Given the description of an element on the screen output the (x, y) to click on. 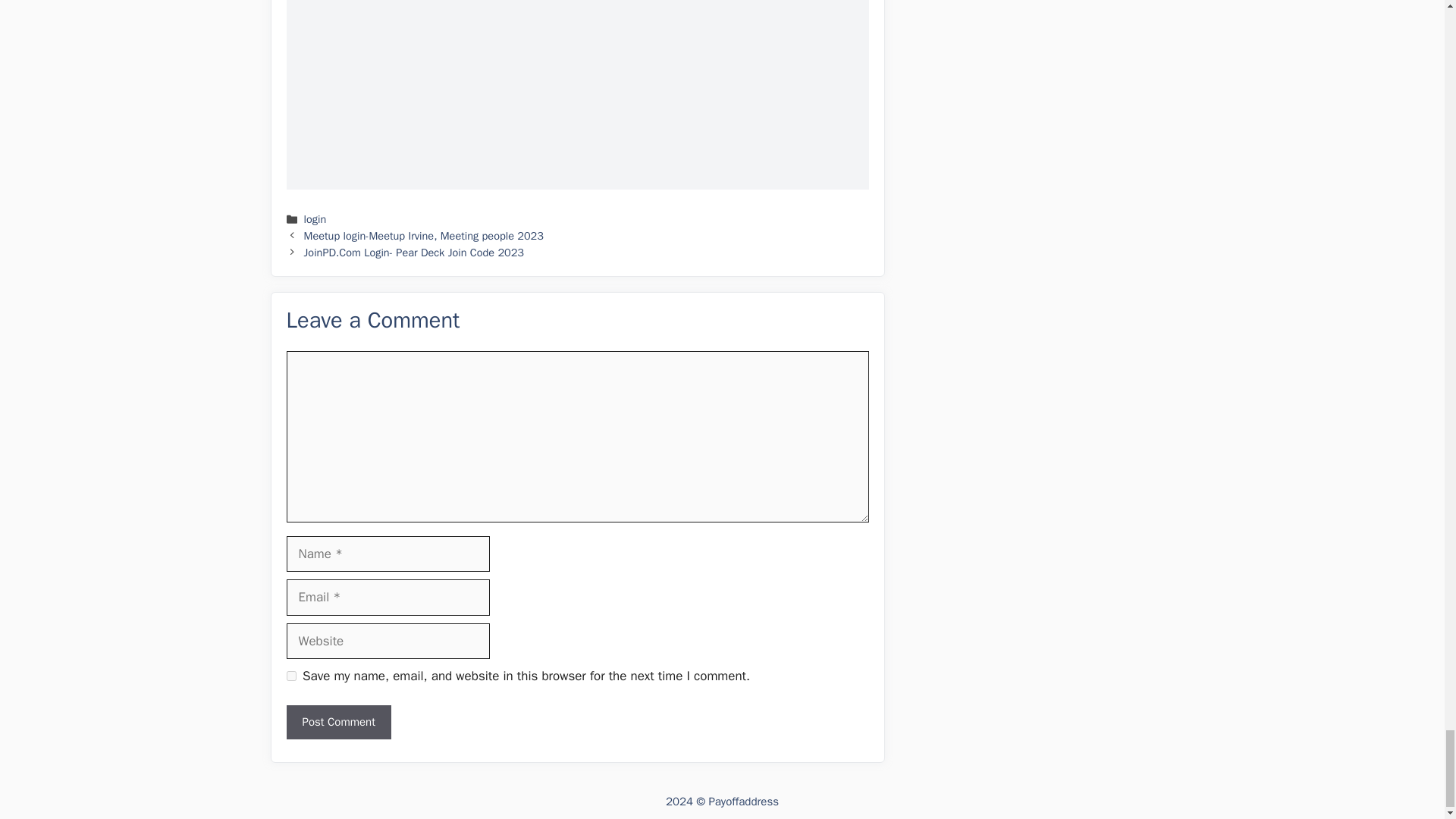
yes (291, 675)
JoinPD.Com Login- Pear Deck Join Code 2023 (414, 252)
Post Comment (338, 722)
Post Comment (338, 722)
Meetup login-Meetup Irvine, Meeting people 2023 (423, 235)
login (315, 219)
